Given the description of an element on the screen output the (x, y) to click on. 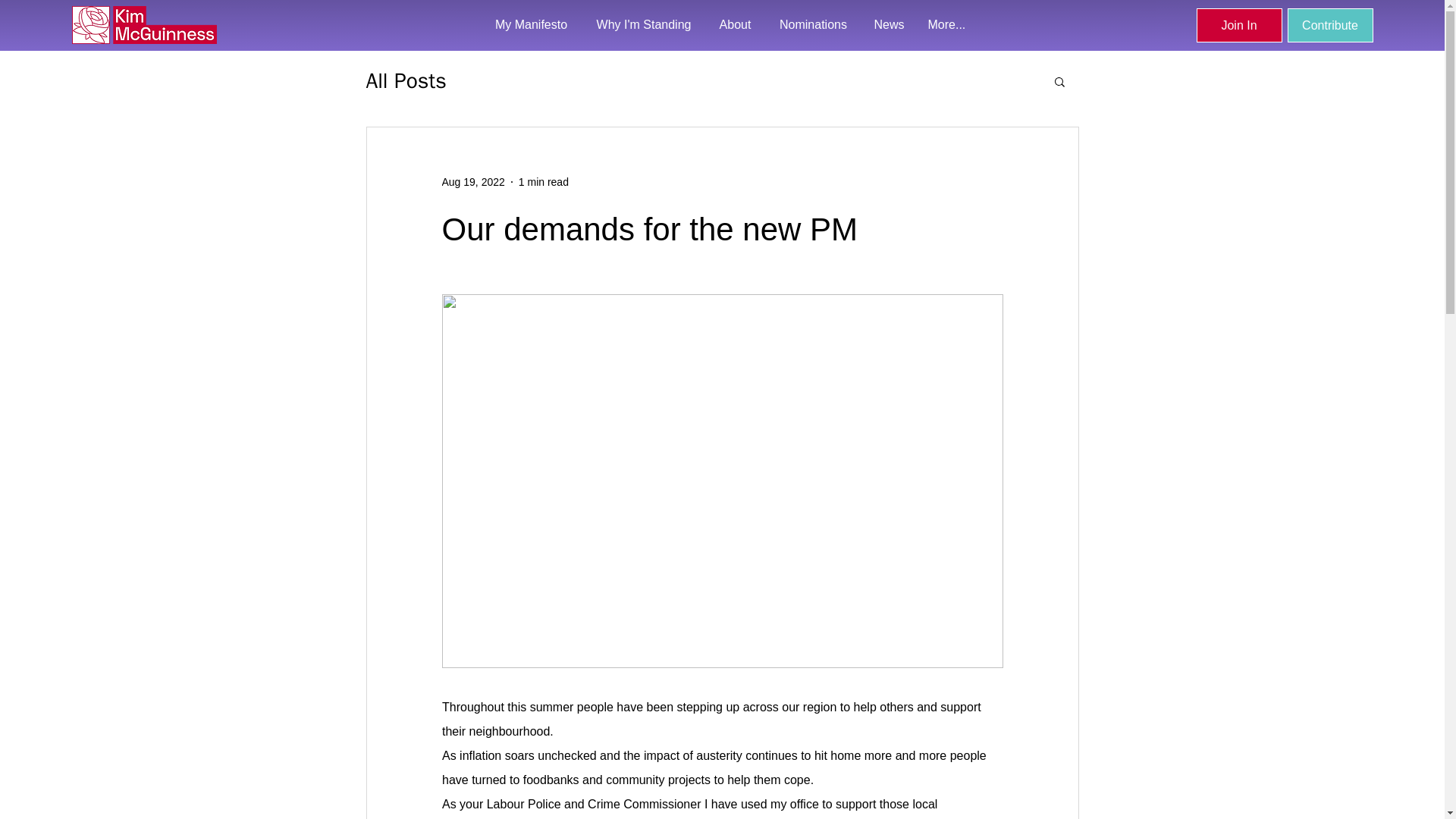
About (734, 24)
All Posts (405, 80)
Contribute (1330, 25)
Why I'm Standing (644, 24)
News (888, 24)
Join In (1239, 25)
Aug 19, 2022 (472, 182)
Nominations (812, 24)
My Manifesto (531, 24)
1 min read (543, 182)
